Given the description of an element on the screen output the (x, y) to click on. 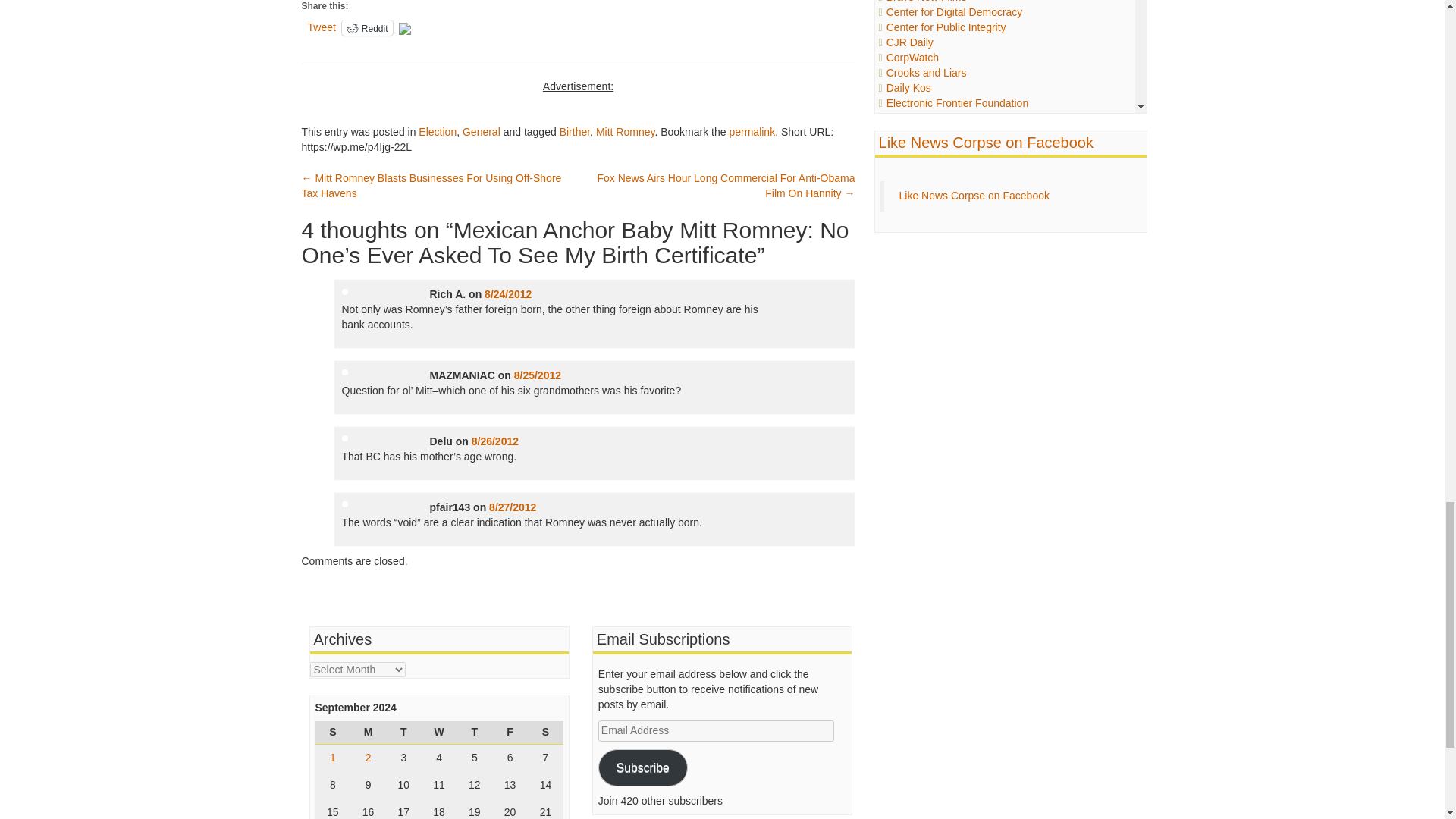
Reddit (367, 28)
Mitt Romney (625, 132)
Birther (574, 132)
Election (438, 132)
General (481, 132)
permalink (751, 132)
Click to share on Reddit (367, 28)
Sunday (332, 732)
Tweet (321, 27)
Monday (367, 732)
